Given the description of an element on the screen output the (x, y) to click on. 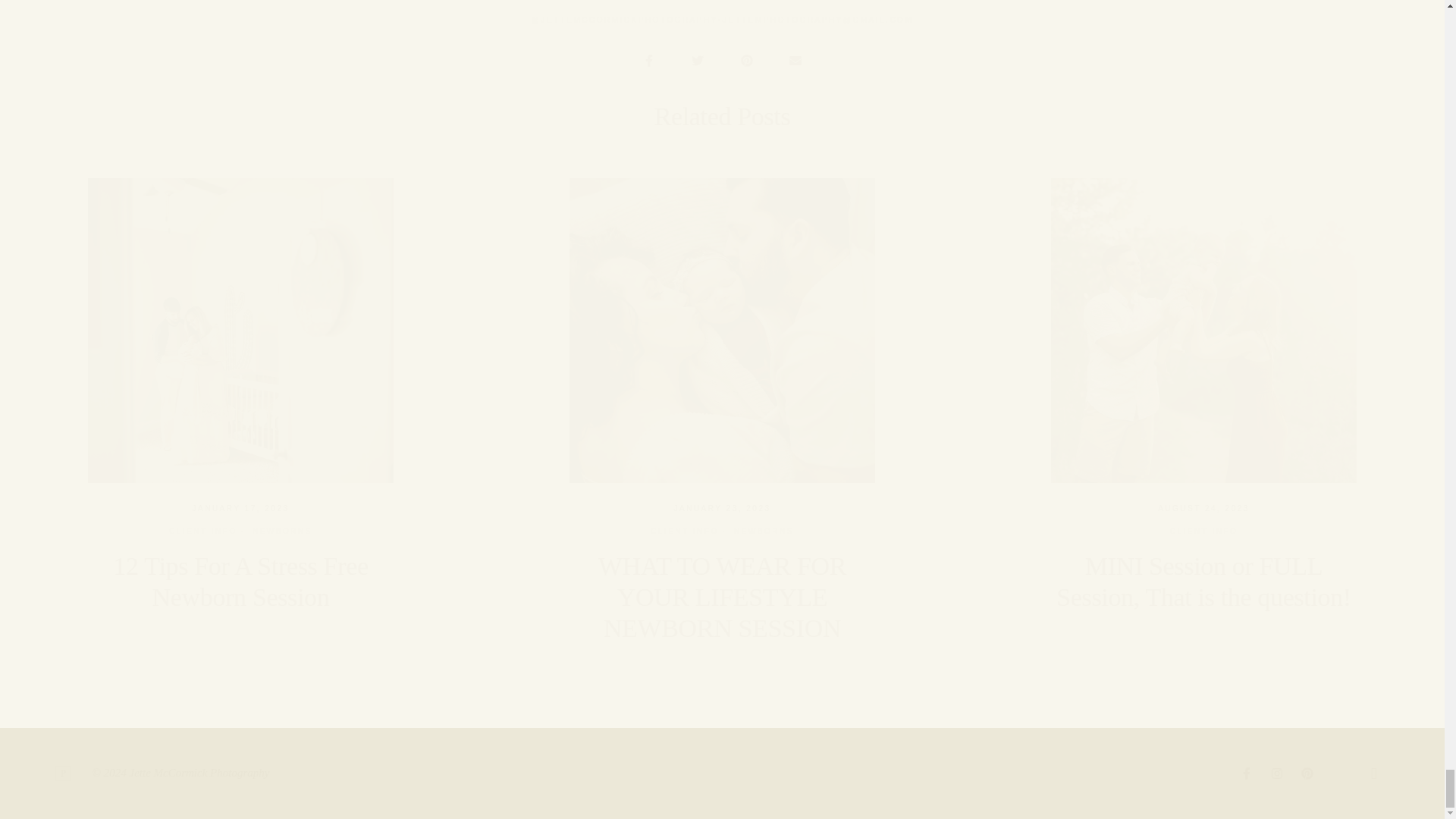
NEWBORNS (763, 530)
NEWBORNS (282, 530)
